Given the description of an element on the screen output the (x, y) to click on. 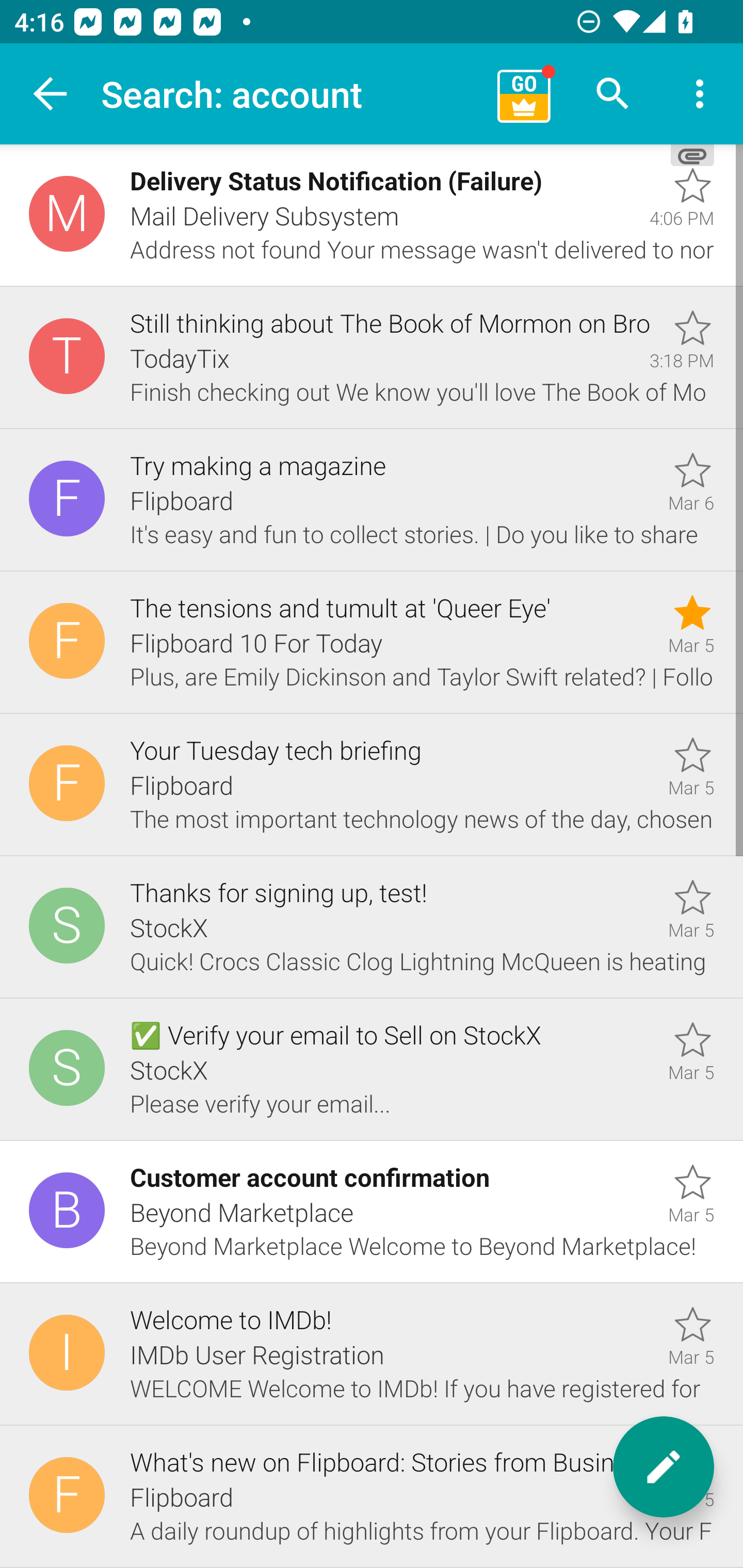
Navigate up (50, 93)
Search (612, 93)
More options (699, 93)
New message (663, 1466)
